Given the description of an element on the screen output the (x, y) to click on. 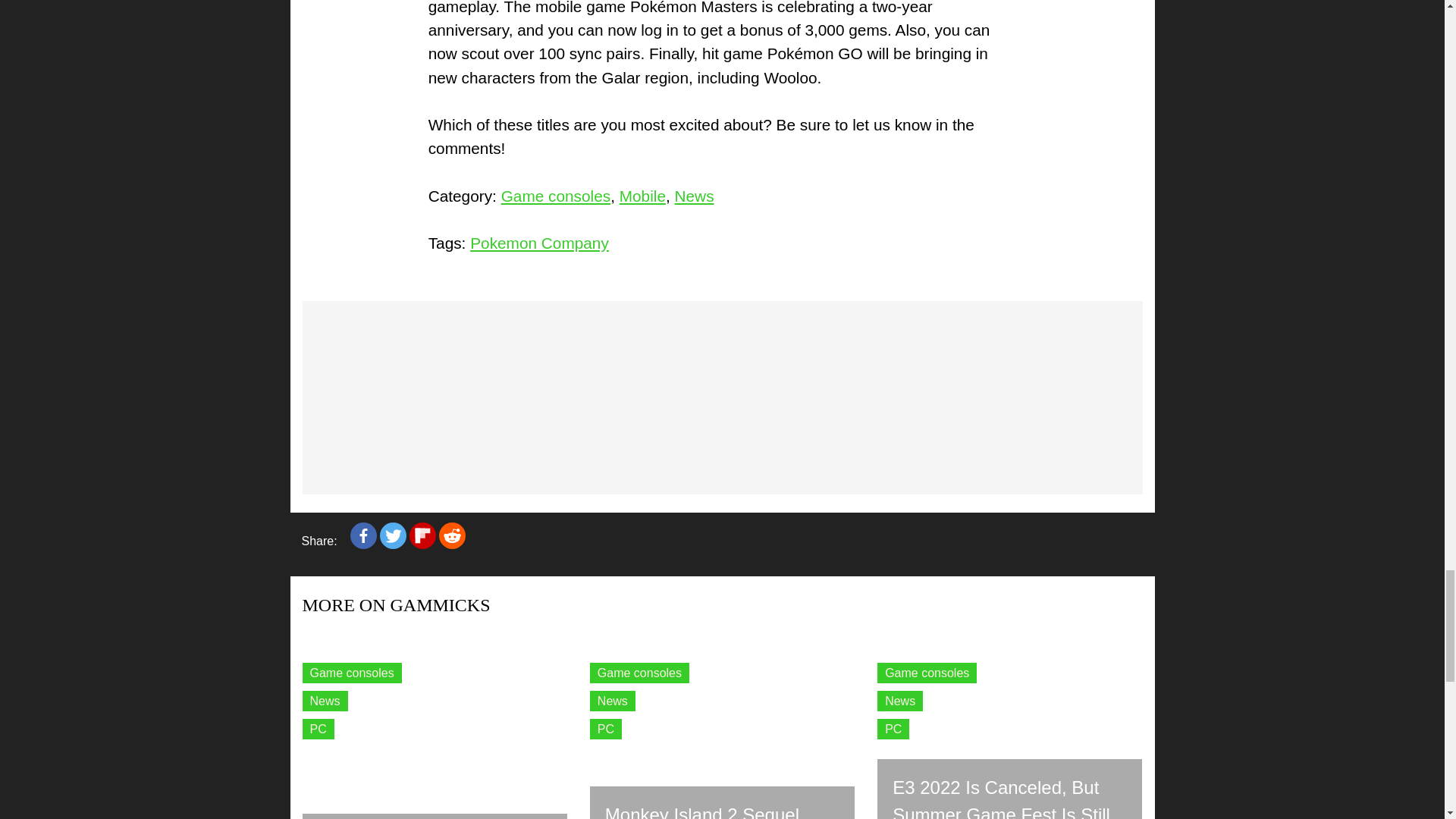
PC (317, 729)
Flipboard (422, 535)
Unreal Engine 5 Is Here (433, 816)
Mobile (642, 194)
Twitter (393, 535)
Reddit (452, 535)
News (694, 194)
News (324, 701)
Game consoles (638, 672)
Game consoles (555, 194)
Pokemon Company (539, 242)
Game consoles (351, 672)
Facebook (363, 535)
